Given the description of an element on the screen output the (x, y) to click on. 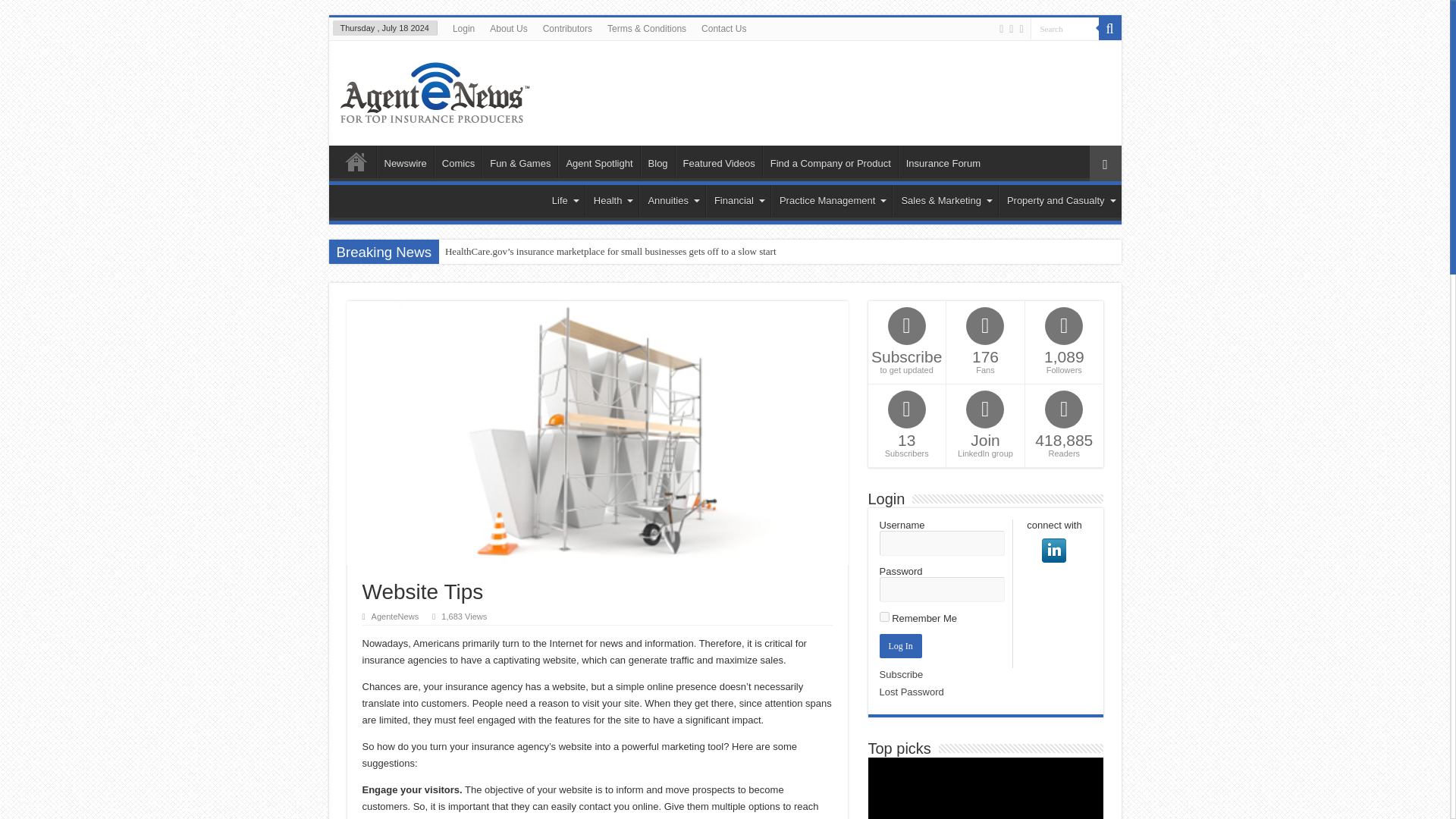
Comics (457, 161)
Life (564, 201)
Insurance Forum (942, 161)
Search (1109, 28)
Search (1063, 28)
Featured Videos (718, 161)
AgenteNews (434, 89)
Newswire (403, 161)
Search (1063, 28)
Find a Company or Product (830, 161)
Search (1063, 28)
Facebook (1000, 29)
Log In (900, 645)
LinkedIn (1021, 29)
forever (884, 616)
